Given the description of an element on the screen output the (x, y) to click on. 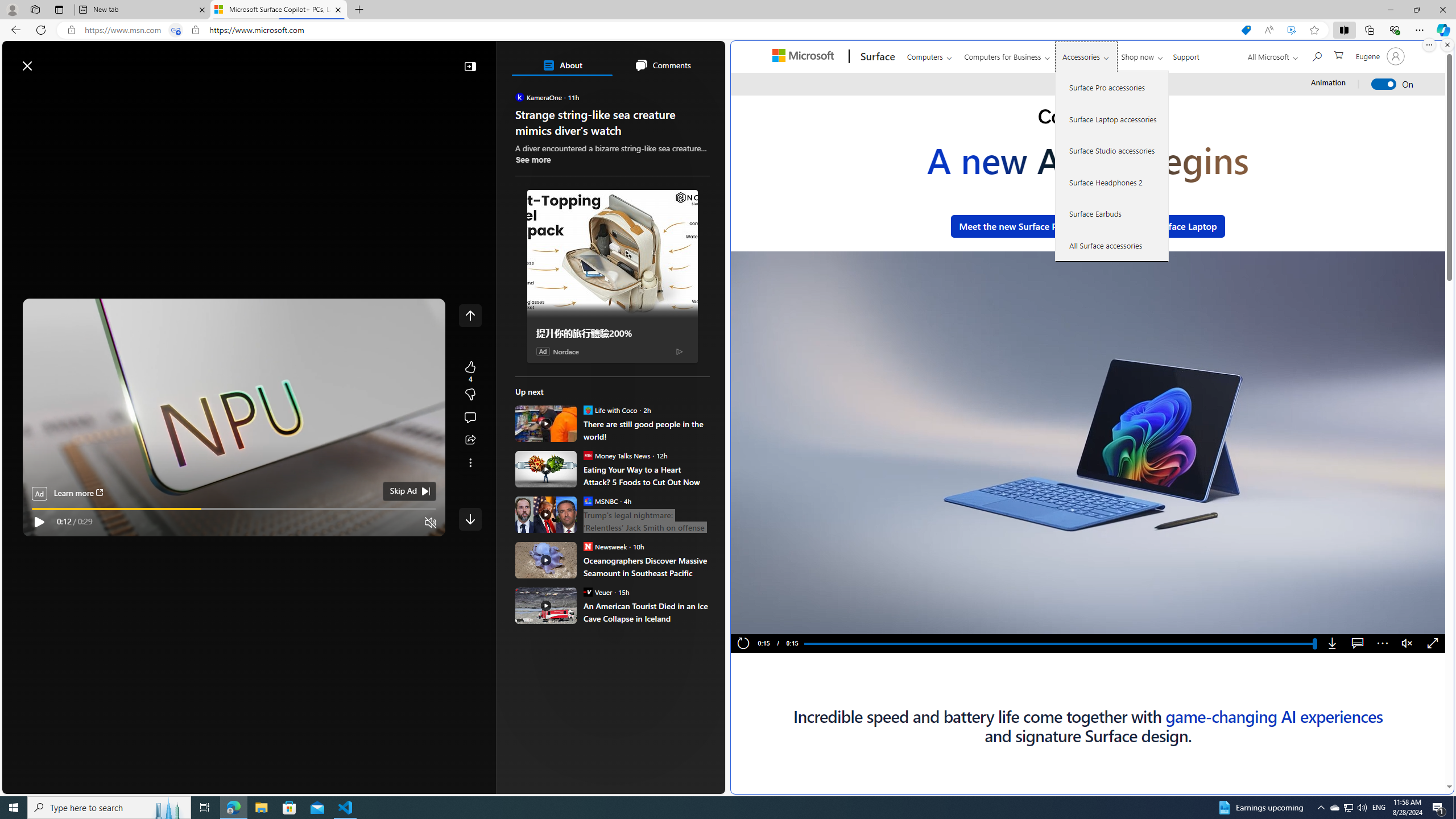
Eating Your Way to a Heart Attack? 5 Foods to Cut Out Now (646, 475)
Meet the new Surface Laptop (1155, 225)
Feedback (681, 784)
Skip to content (49, 59)
Surface Laptop accessories (1112, 119)
Progress Bar (1058, 643)
Watch (145, 92)
Share this story (469, 440)
All Surface accessories (1112, 245)
Money Talks News (587, 455)
Play (38, 522)
